Given the description of an element on the screen output the (x, y) to click on. 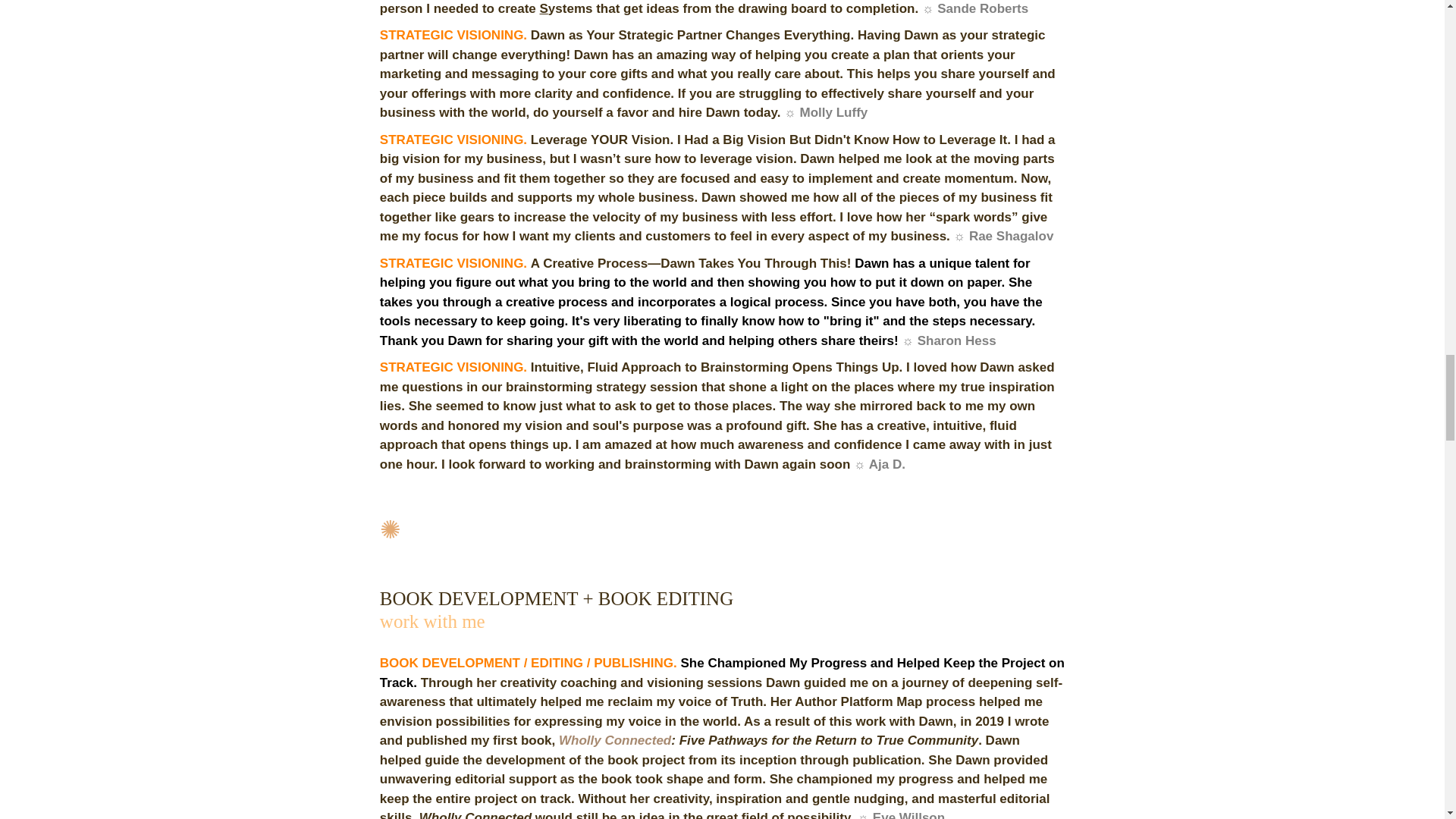
Work with Dawn Strategic Visioning (432, 621)
Wholly Connected Book (615, 740)
